Given the description of an element on the screen output the (x, y) to click on. 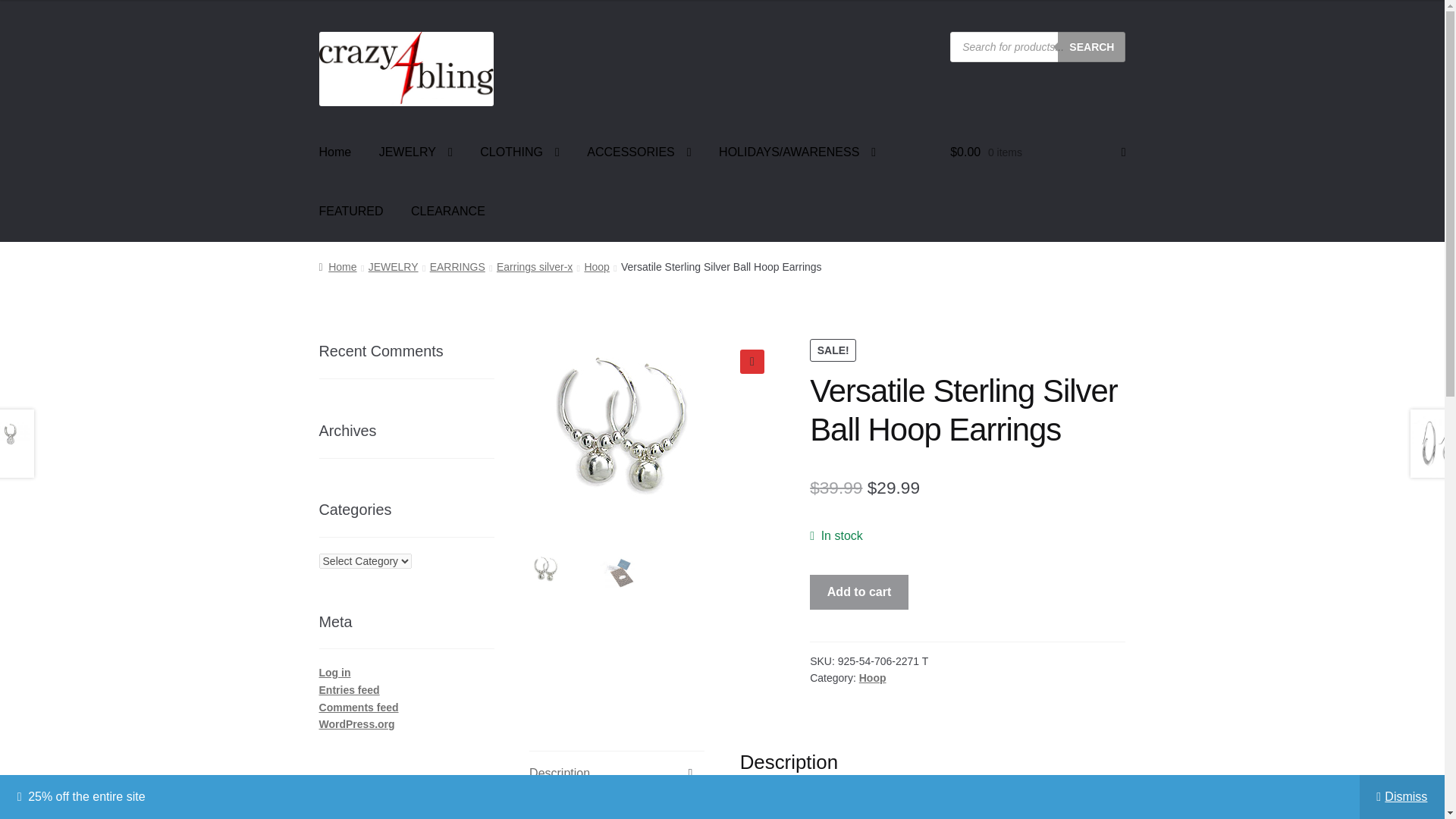
SEARCH (1091, 46)
2Giftwrap.jpg (897, 461)
Home (335, 151)
View your shopping cart (1037, 151)
JEWELRY (415, 151)
